Given the description of an element on the screen output the (x, y) to click on. 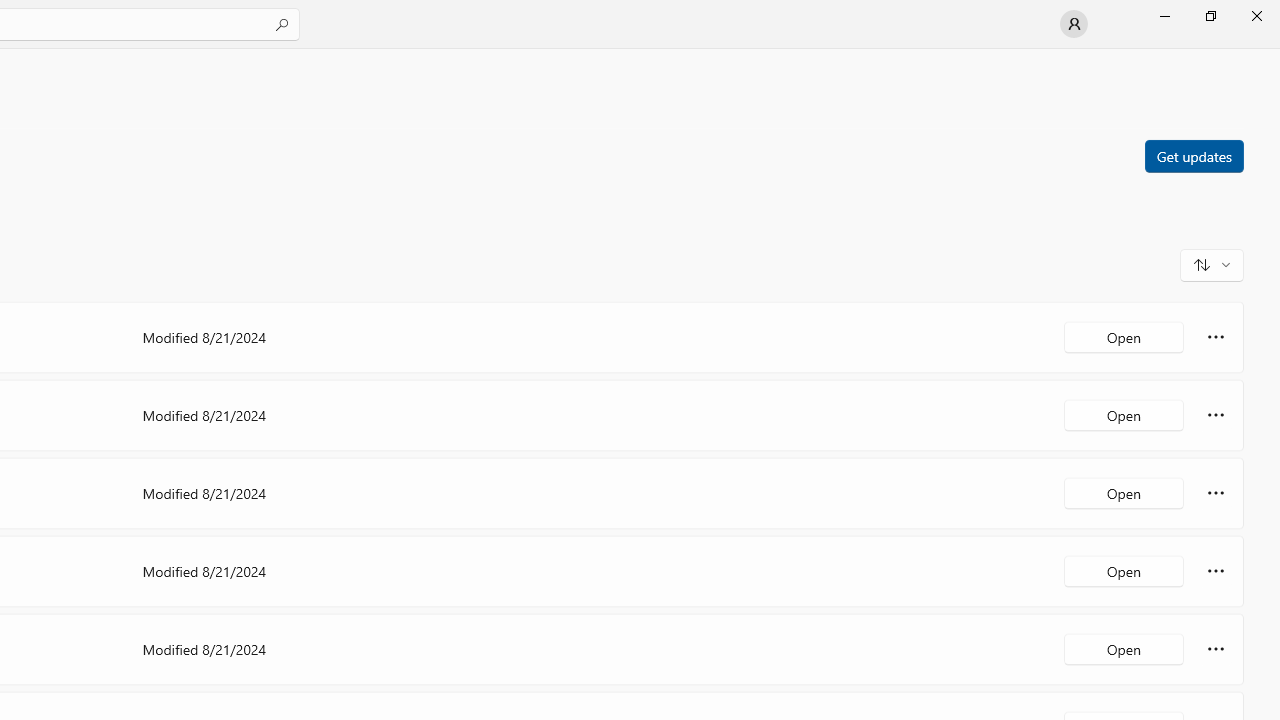
Restore Microsoft Store (1210, 15)
Close Microsoft Store (1256, 15)
Minimize Microsoft Store (1164, 15)
Sort and filter (1212, 263)
More options (1215, 648)
Get updates (1193, 155)
User profile (1073, 24)
Open (1123, 648)
